Given the description of an element on the screen output the (x, y) to click on. 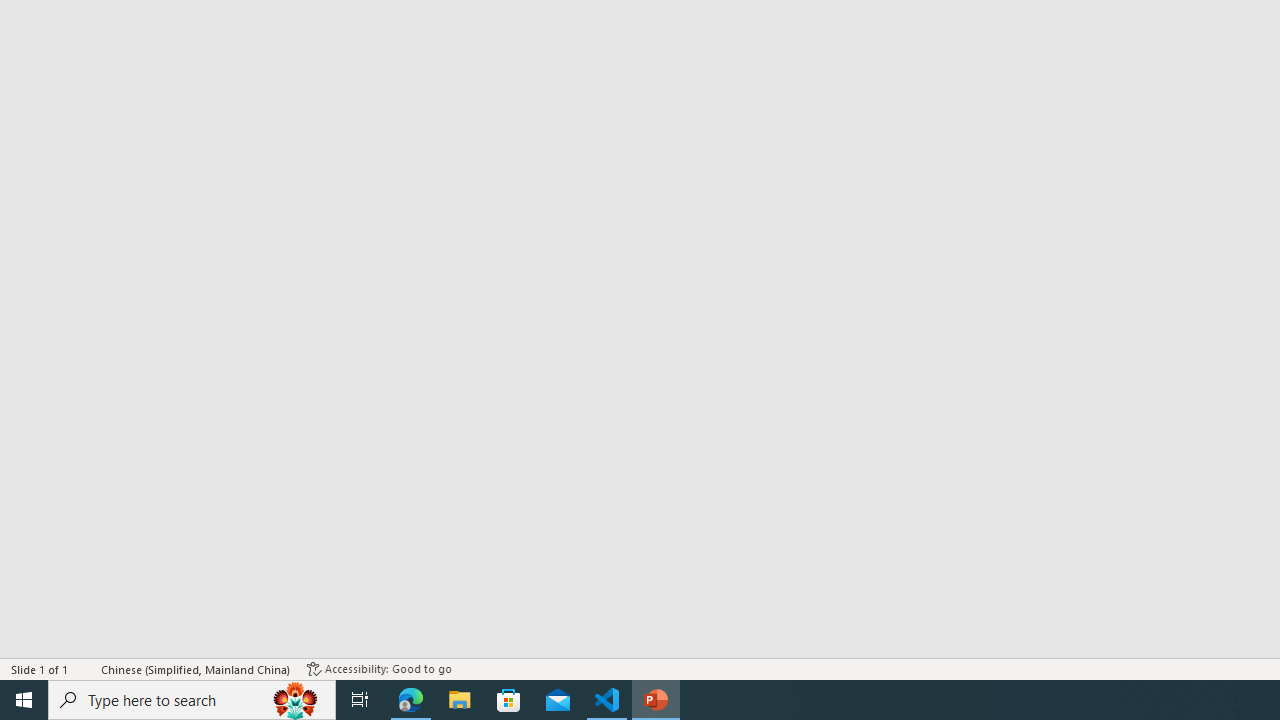
Visual Studio Code - 1 running window (607, 699)
Start (24, 699)
Accessibility Checker Accessibility: Good to go (379, 668)
Microsoft Store (509, 699)
Task View (359, 699)
Spell Check  (86, 668)
Microsoft Edge - 1 running window (411, 699)
Search highlights icon opens search home window (295, 699)
PowerPoint - 1 running window (656, 699)
File Explorer (460, 699)
Type here to search (191, 699)
